Given the description of an element on the screen output the (x, y) to click on. 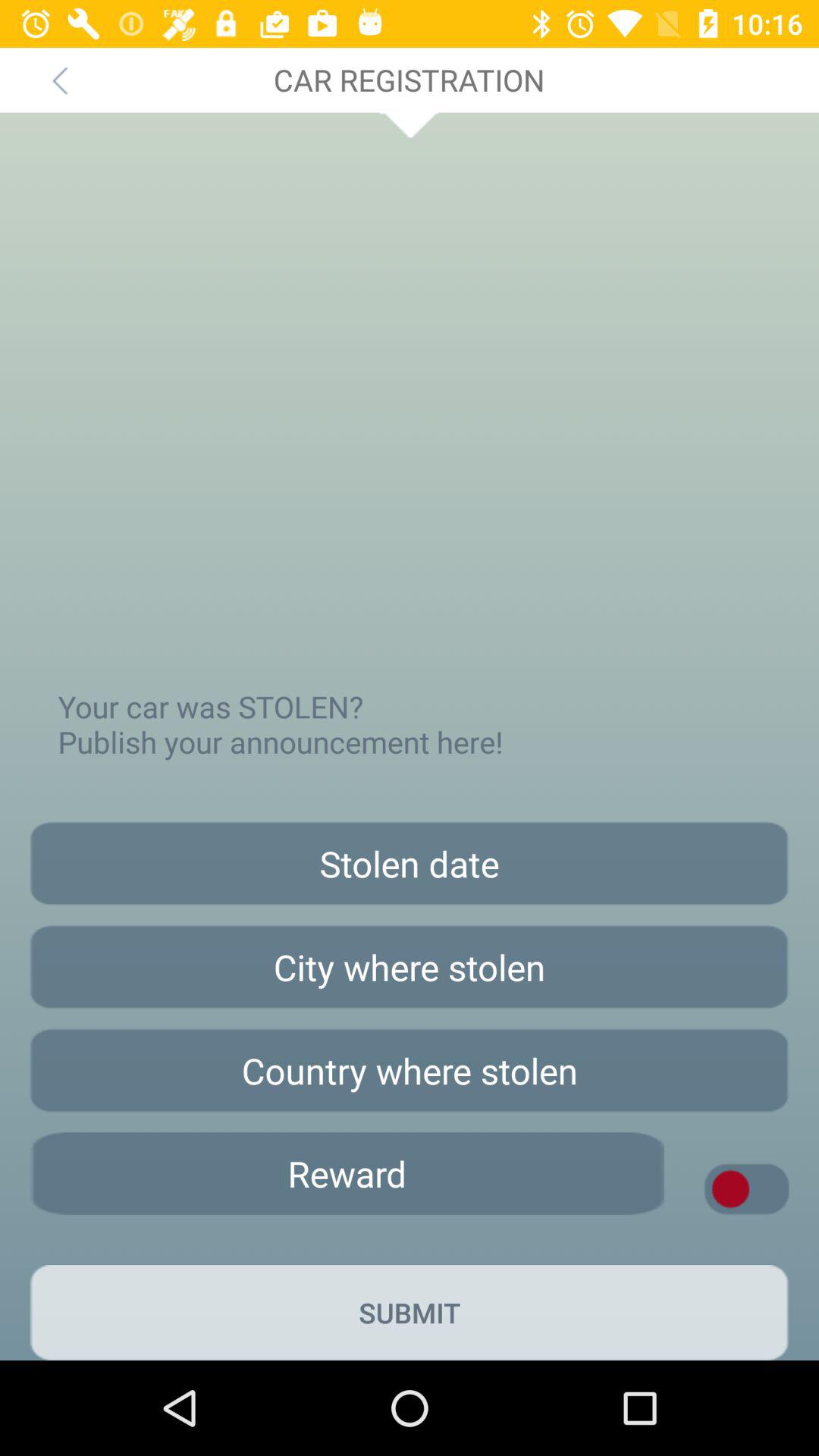
tap the item next to the car registration icon (59, 79)
